Given the description of an element on the screen output the (x, y) to click on. 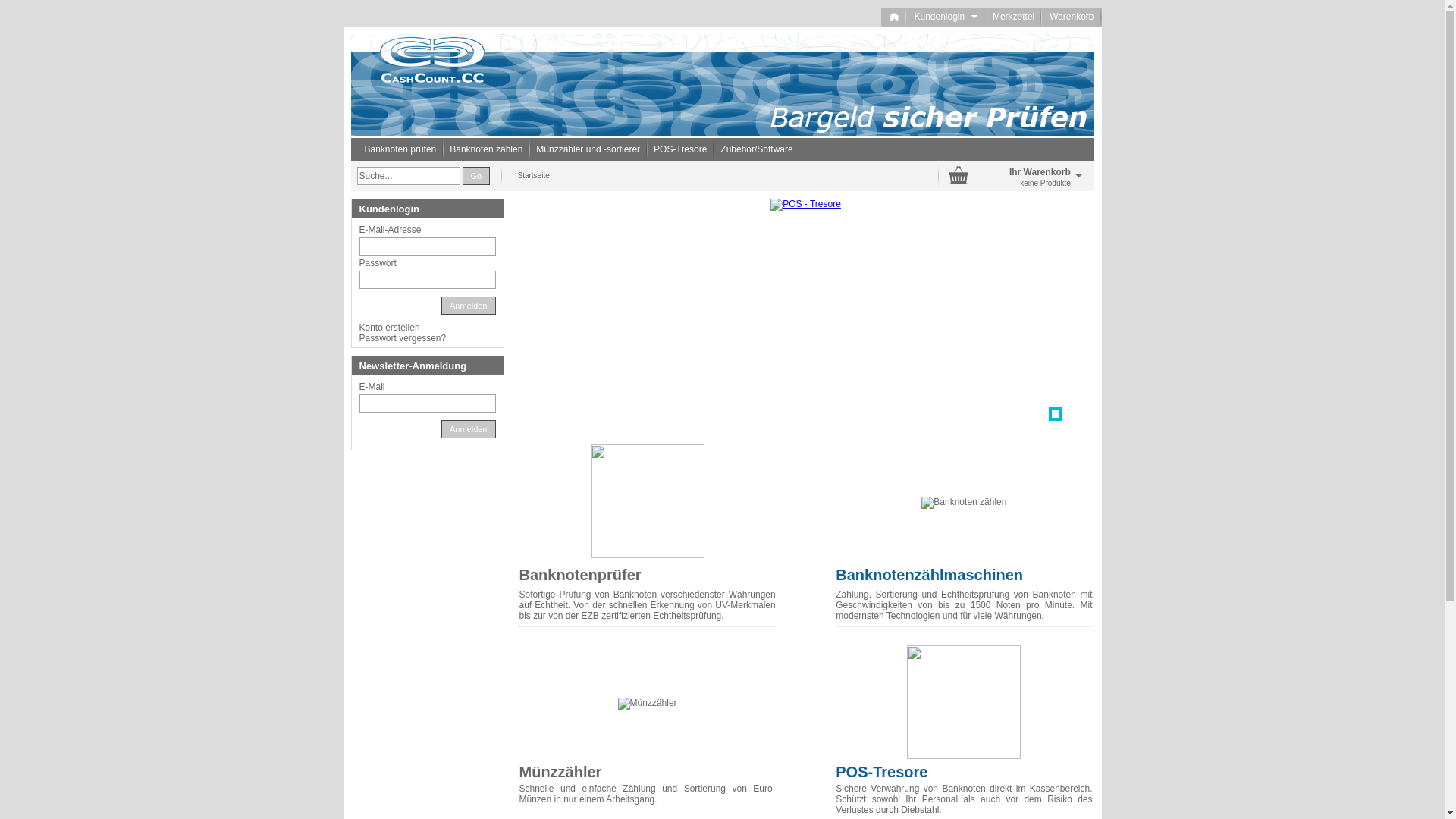
  Element type: hover (805, 204)
Startseite anzeigen Element type: hover (893, 16)
Startseite Element type: text (533, 175)
Anmelden Element type: text (468, 429)
     Element type: text (892, 16)
Startseite anzeigen Element type: hover (893, 16)
Merkzettel Element type: text (1012, 16)
Konto erstellen Element type: text (389, 327)
Go Element type: text (476, 175)
Kundenlogin      Element type: text (944, 16)
CashCount.cc Element type: hover (721, 84)
Warenkorb Element type: text (1070, 16)
Anmelden Element type: text (468, 305)
POS-Tresore Element type: text (881, 773)
POS-Tresore Element type: text (679, 149)
Passwort vergessen? Element type: text (402, 337)
